Given the description of an element on the screen output the (x, y) to click on. 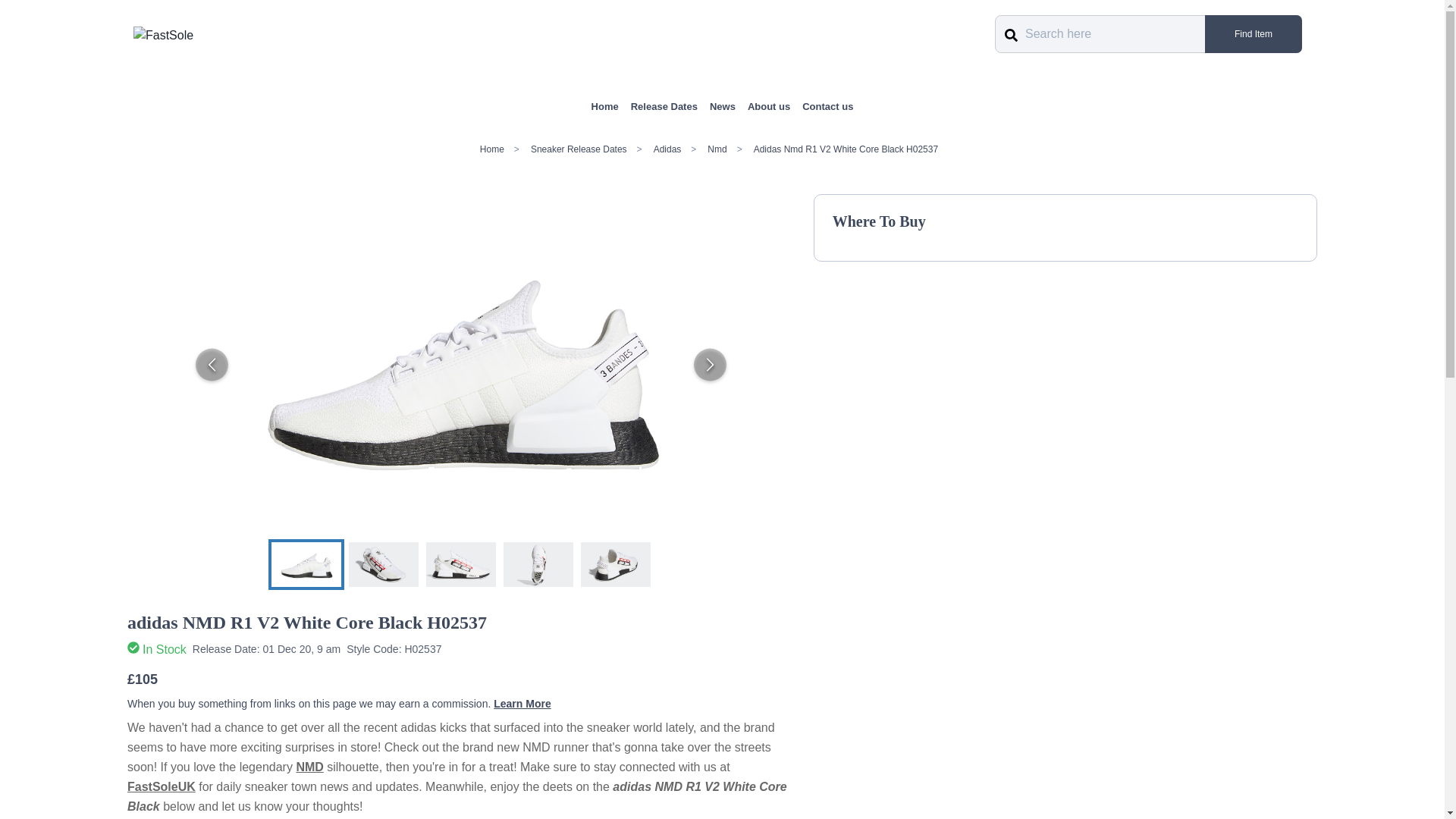
adidas NMD R1 V2 White Core Black H02537 05 (615, 563)
adidas NMD R1 V2 White Core Black H02537 01 (305, 563)
adidas NMD R1 V2 White Core Black H02537 02 (384, 563)
adidas NMD R1 V2 White Core Black H02537 04 (538, 563)
adidas NMD R1 V2 White Core Black H02537 03 (461, 563)
FastSole (163, 35)
Release Dates (663, 106)
Home (604, 106)
Find Item (1253, 34)
